Given the description of an element on the screen output the (x, y) to click on. 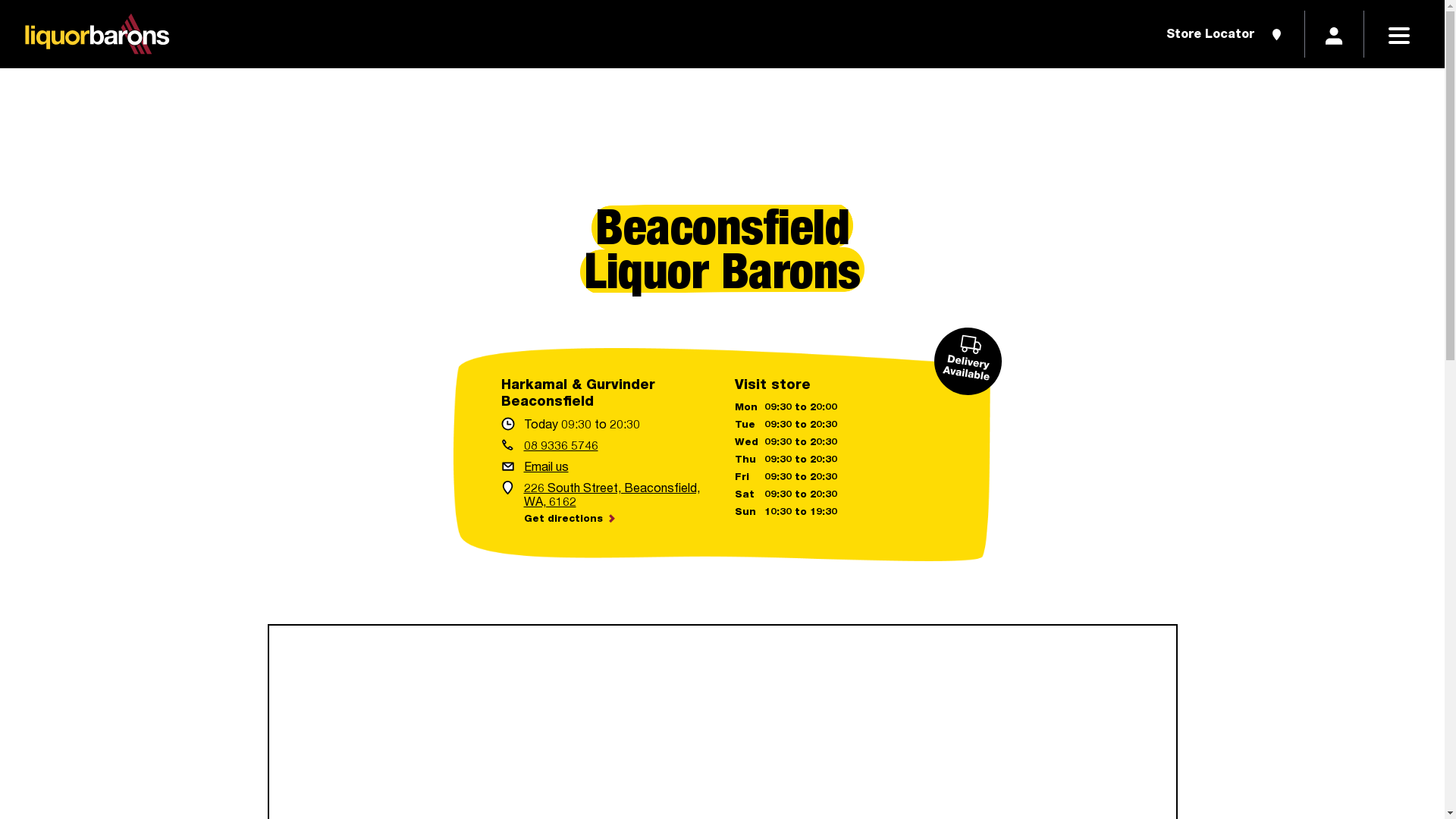
Members Login Element type: text (1333, 33)
Store Locator Element type: text (1225, 33)
08 9336 5746 Element type: text (604, 444)
Email us Element type: text (604, 466)
226 South Street, Beaconsfield, WA, 6162
Get directions Element type: text (604, 502)
